Given the description of an element on the screen output the (x, y) to click on. 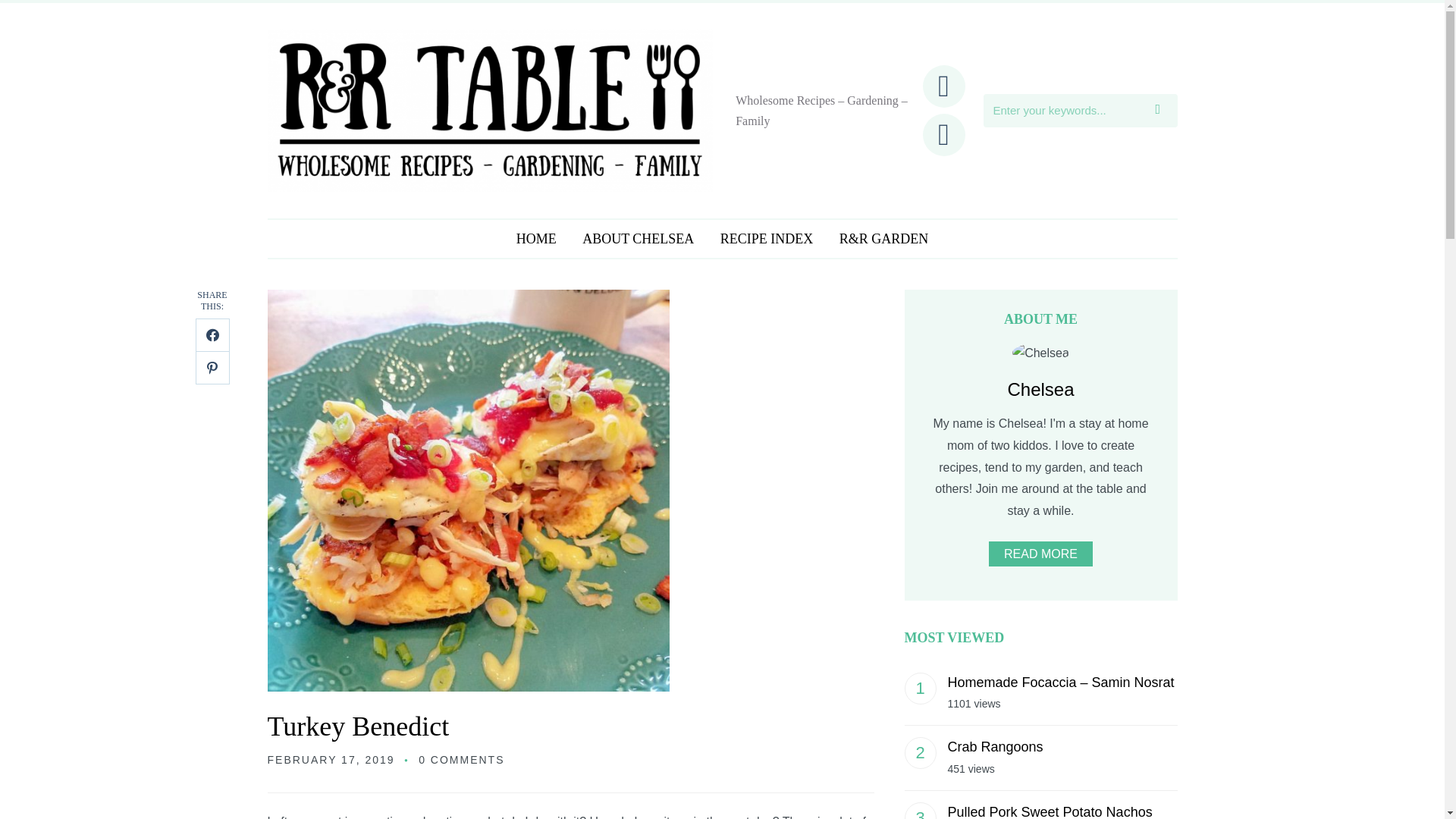
ABOUT CHELSEA (637, 239)
instagram (942, 133)
facebook (942, 84)
Click to share on Pinterest (212, 367)
Facebook (942, 84)
Crab Rangoons (995, 746)
Search (1161, 110)
0 COMMENTS (461, 759)
Search (1161, 110)
Pulled Pork Sweet Potato Nachos (1050, 811)
Turkey Benedict (357, 726)
HOME (536, 239)
Search (1161, 110)
Click to share on Facebook (212, 335)
RECIPE INDEX (767, 239)
